Given the description of an element on the screen output the (x, y) to click on. 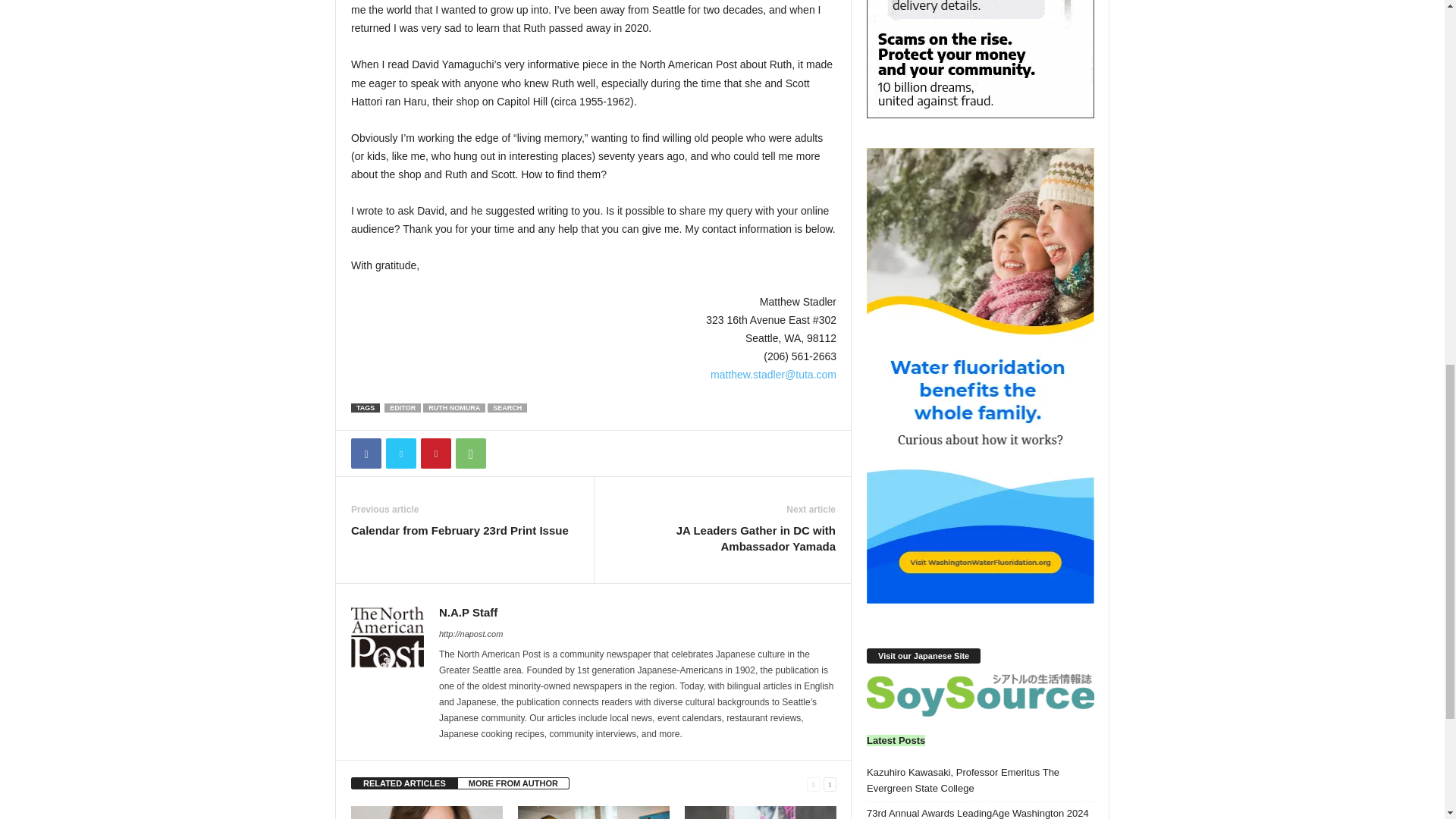
Facebook (365, 453)
Twitter (400, 453)
